Given the description of an element on the screen output the (x, y) to click on. 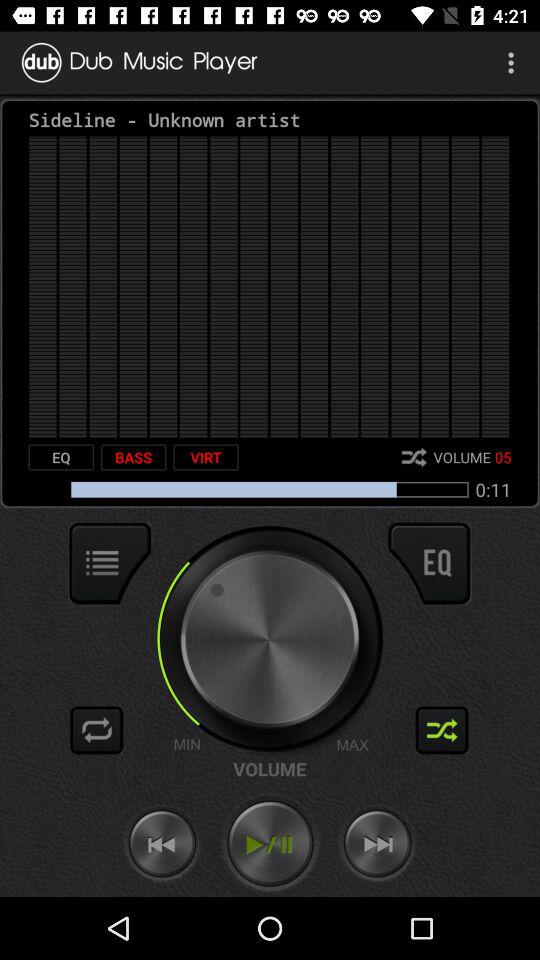
display options (110, 563)
